Given the description of an element on the screen output the (x, y) to click on. 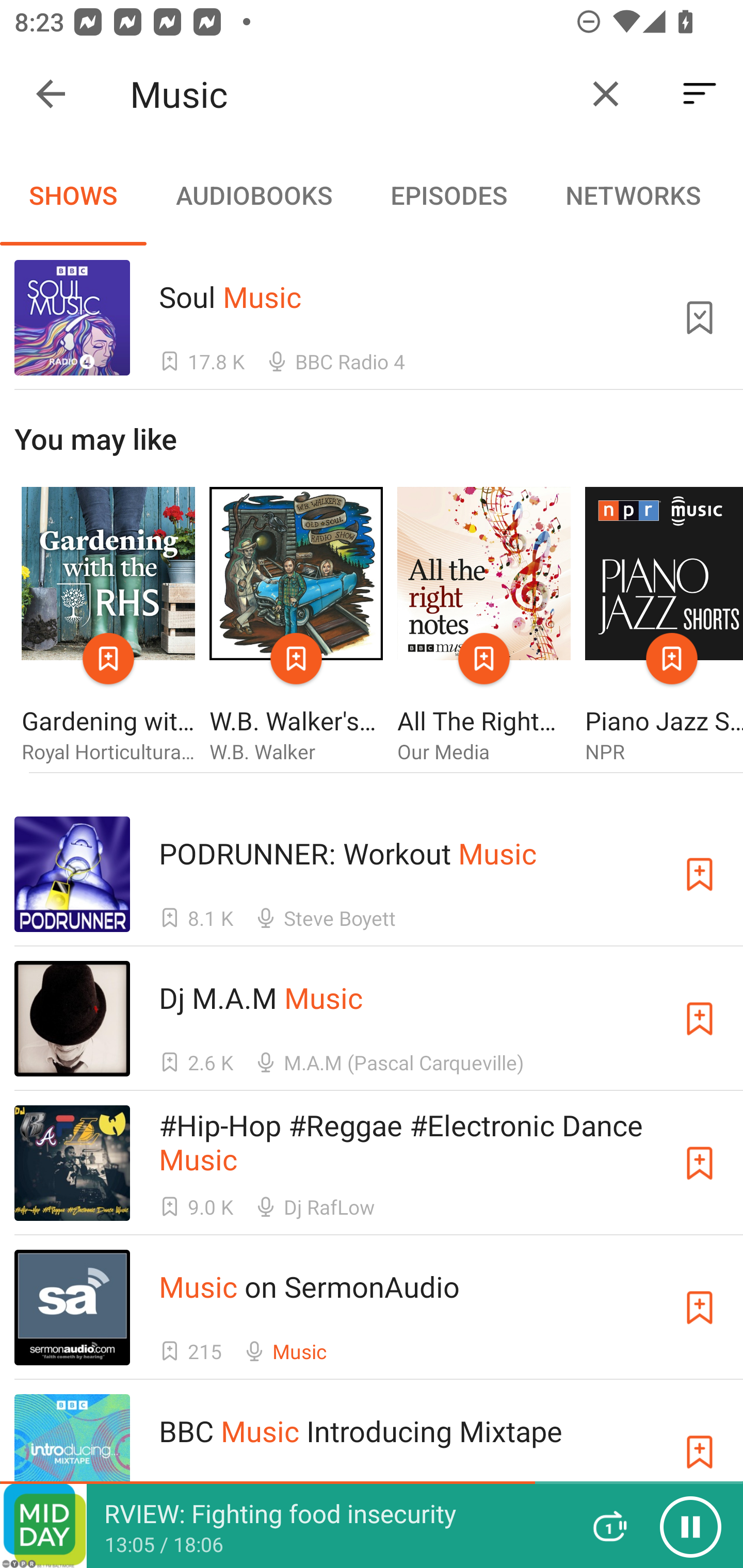
Collapse (50, 93)
Clear query (605, 93)
Sort By (699, 93)
Music (349, 94)
SHOWS (73, 195)
AUDIOBOOKS (253, 195)
EPISODES (448, 195)
NETWORKS (632, 195)
Unsubscribe (699, 317)
Gardening with the RHS Royal Horticultural Society (107, 626)
W.B. Walker's Old Soul Radio Show W.B. Walker (295, 626)
All The Right Notes Our Media (483, 626)
Piano Jazz Shorts NPR (664, 626)
Subscribe (699, 873)
Subscribe (699, 1019)
Subscribe (699, 1163)
Subscribe (699, 1307)
Subscribe (699, 1451)
Pause (690, 1526)
